Given the description of an element on the screen output the (x, y) to click on. 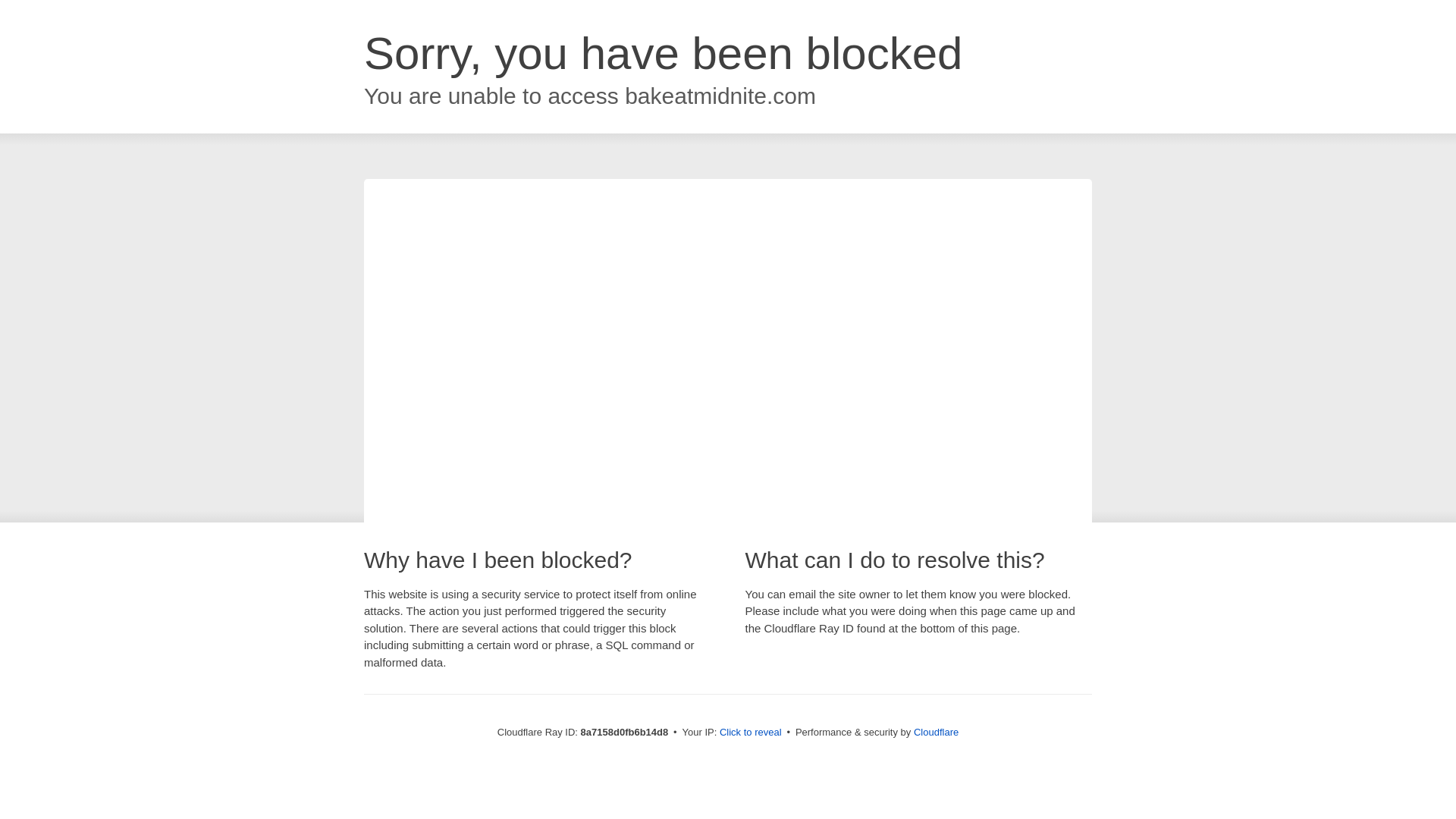
Click to reveal (750, 732)
Cloudflare (936, 731)
